Given the description of an element on the screen output the (x, y) to click on. 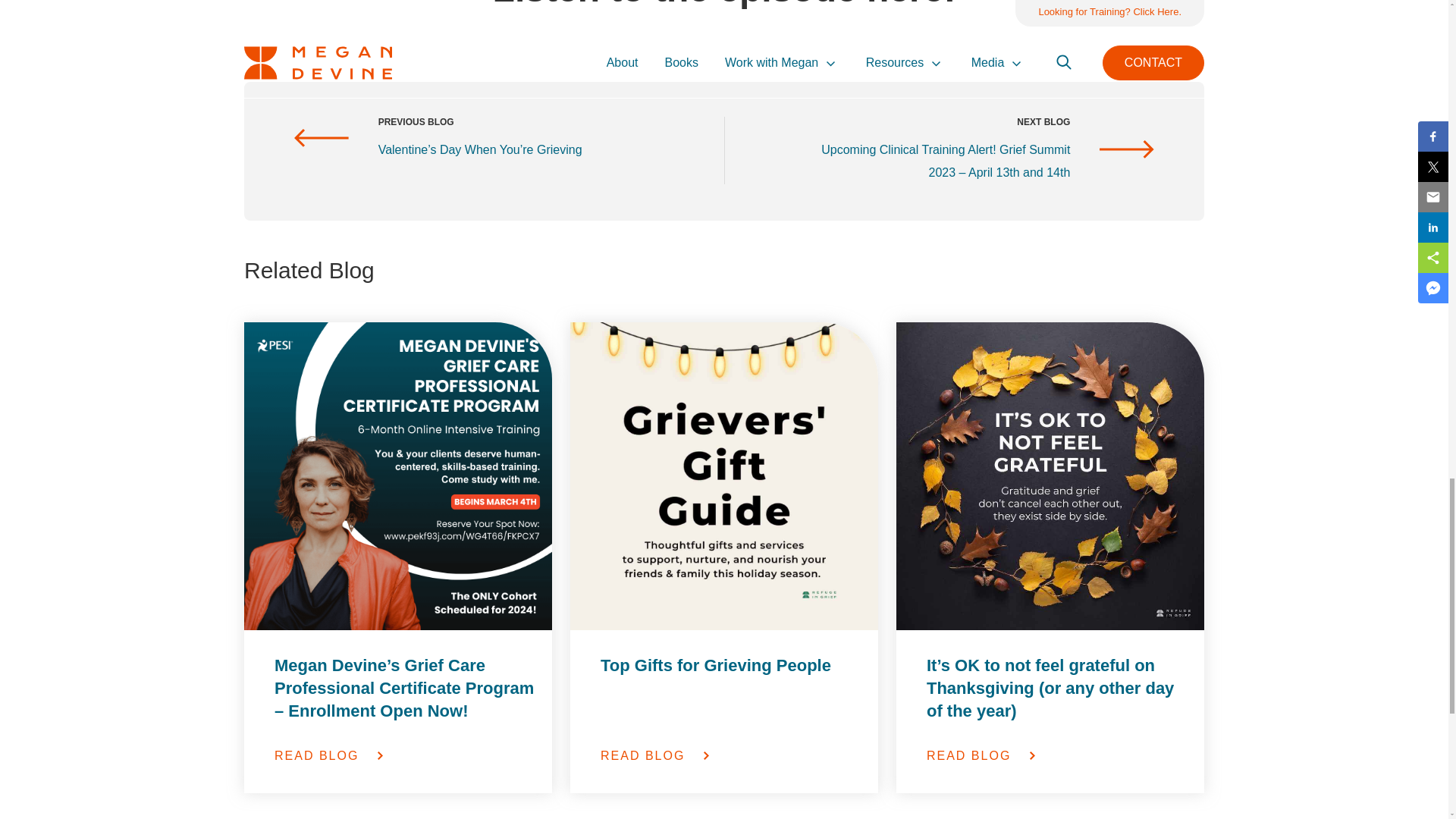
READ BLOG (405, 755)
READ BLOG (730, 755)
Top Gifts for Grieving People (730, 688)
Listen to the episode here! (724, 5)
READ BLOG (1057, 755)
